Given the description of an element on the screen output the (x, y) to click on. 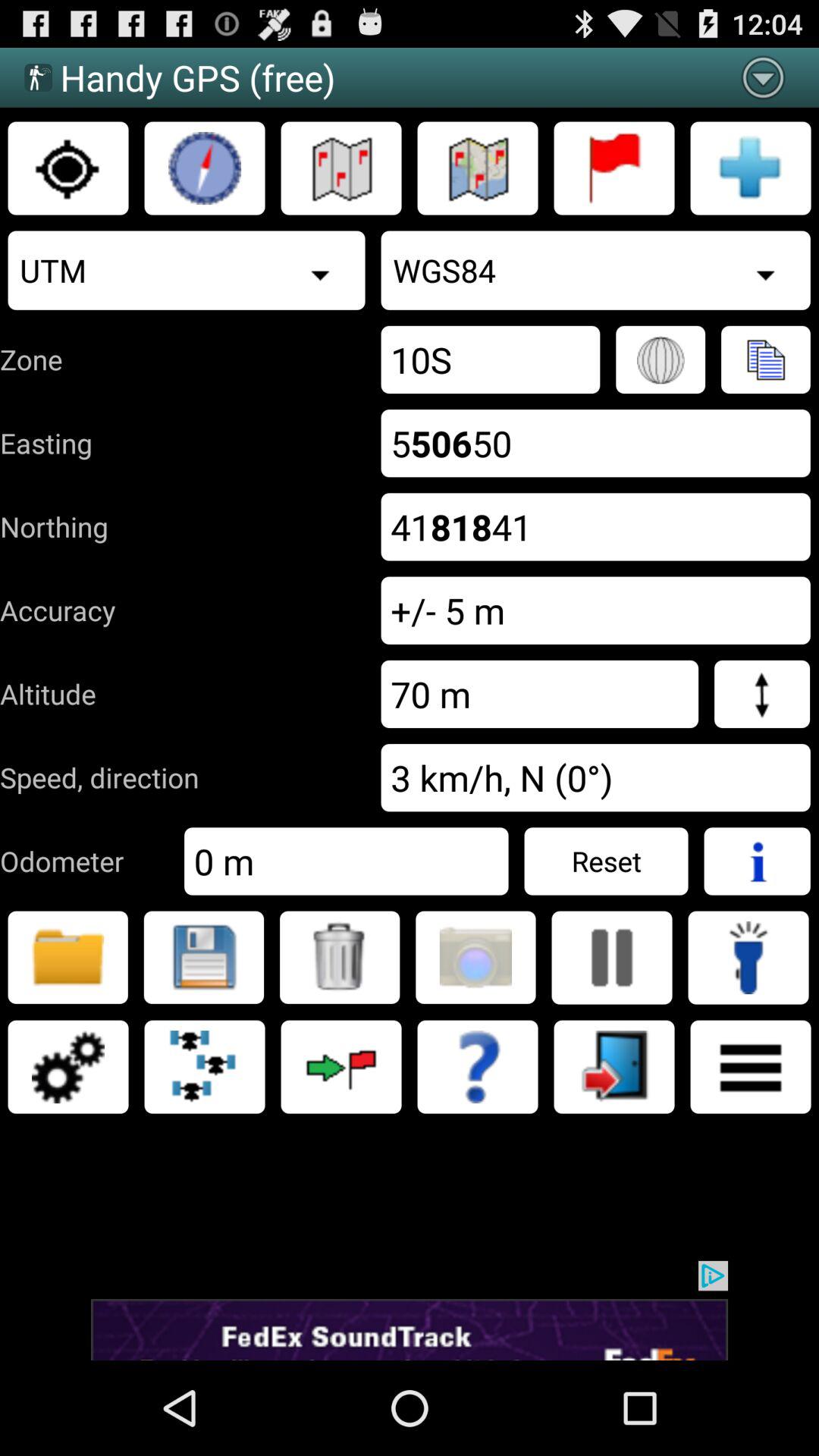
earn more about the application (477, 1066)
